Given the description of an element on the screen output the (x, y) to click on. 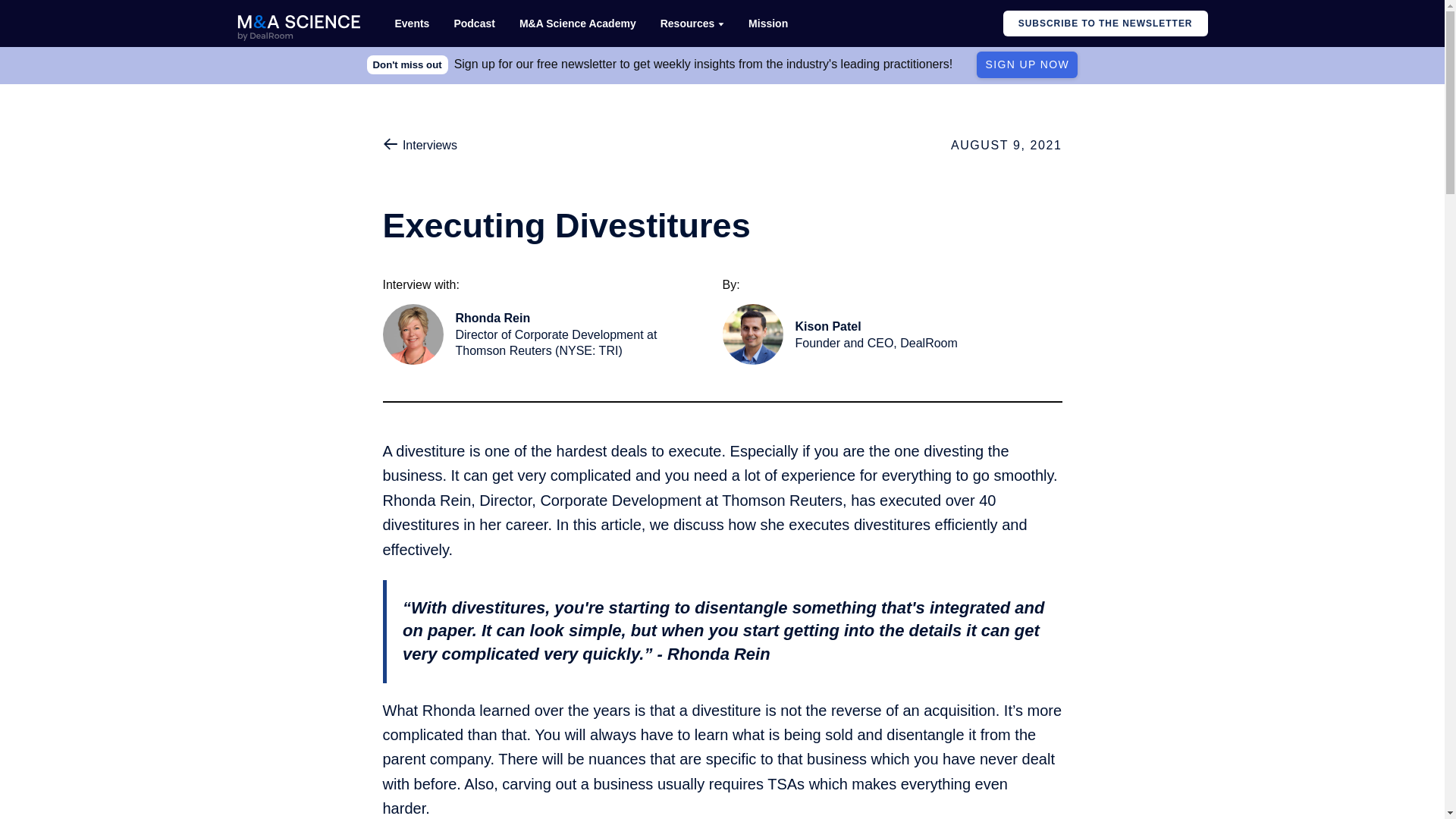
Interviews (879, 333)
SUBSCRIBE TO THE NEWSLETTER (419, 145)
Podcast (1105, 23)
SIGN UP NOW (473, 23)
Events (1026, 64)
Mission (411, 23)
